Given the description of an element on the screen output the (x, y) to click on. 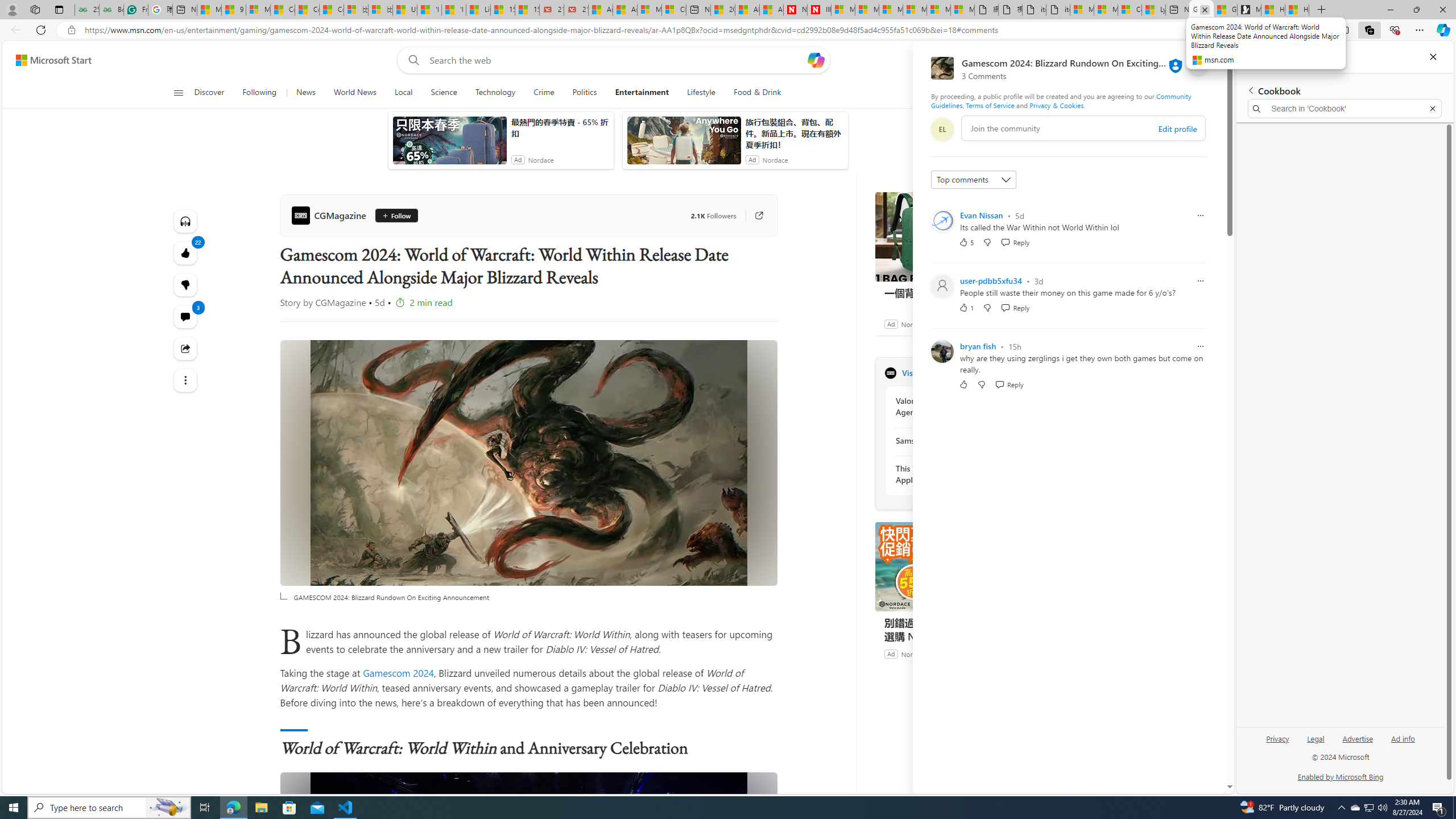
Share this story (184, 348)
close (1198, 65)
Samsung Galaxy Watch 7 Review (957, 440)
